Given the description of an element on the screen output the (x, y) to click on. 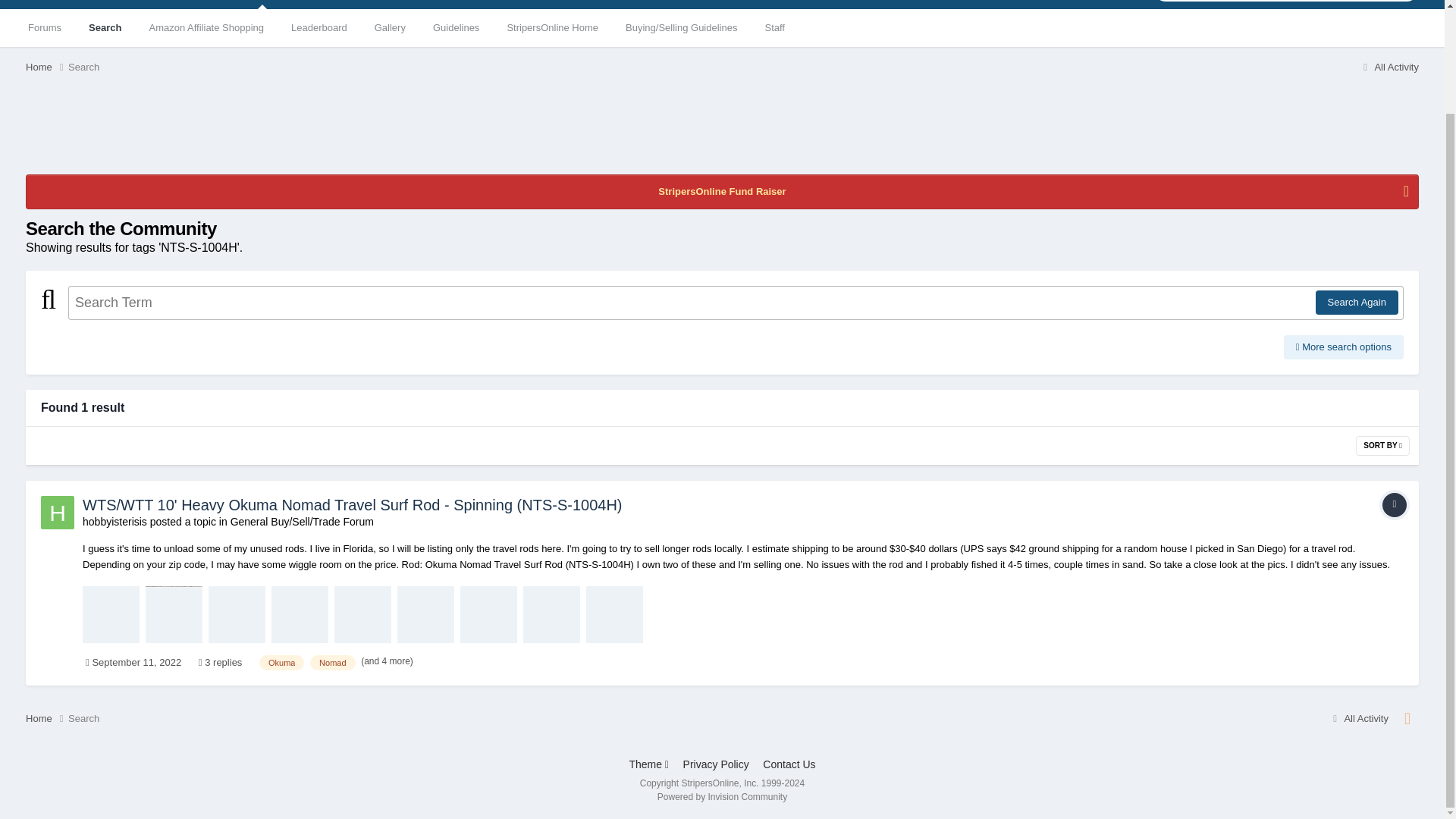
Find other content tagged with 'Nomad' (332, 662)
Activity (580, 4)
Topic (1393, 504)
All Activity (1388, 66)
Home (47, 67)
More search options (1343, 346)
Member Login (184, 4)
Search (83, 66)
Home (47, 67)
Forums (44, 27)
